Given the description of an element on the screen output the (x, y) to click on. 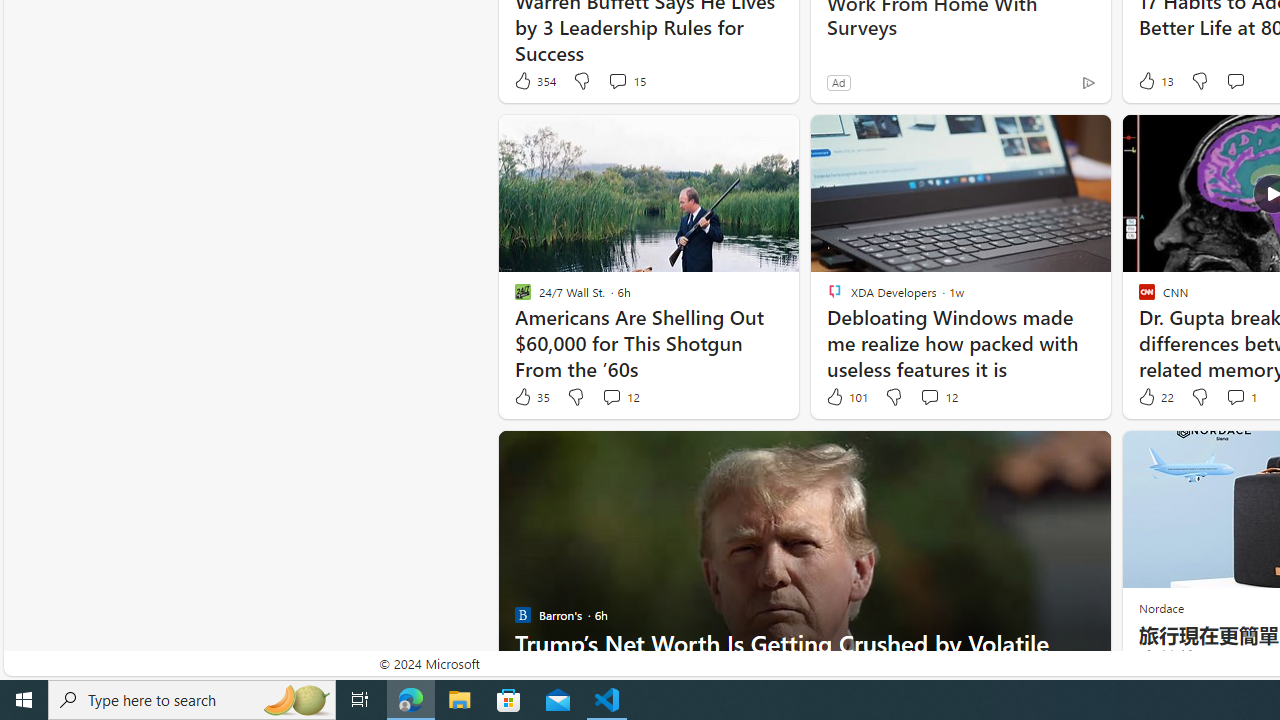
View comments 12 Comment (938, 397)
35 Like (531, 397)
View comments 12 Comment (929, 396)
